Given the description of an element on the screen output the (x, y) to click on. 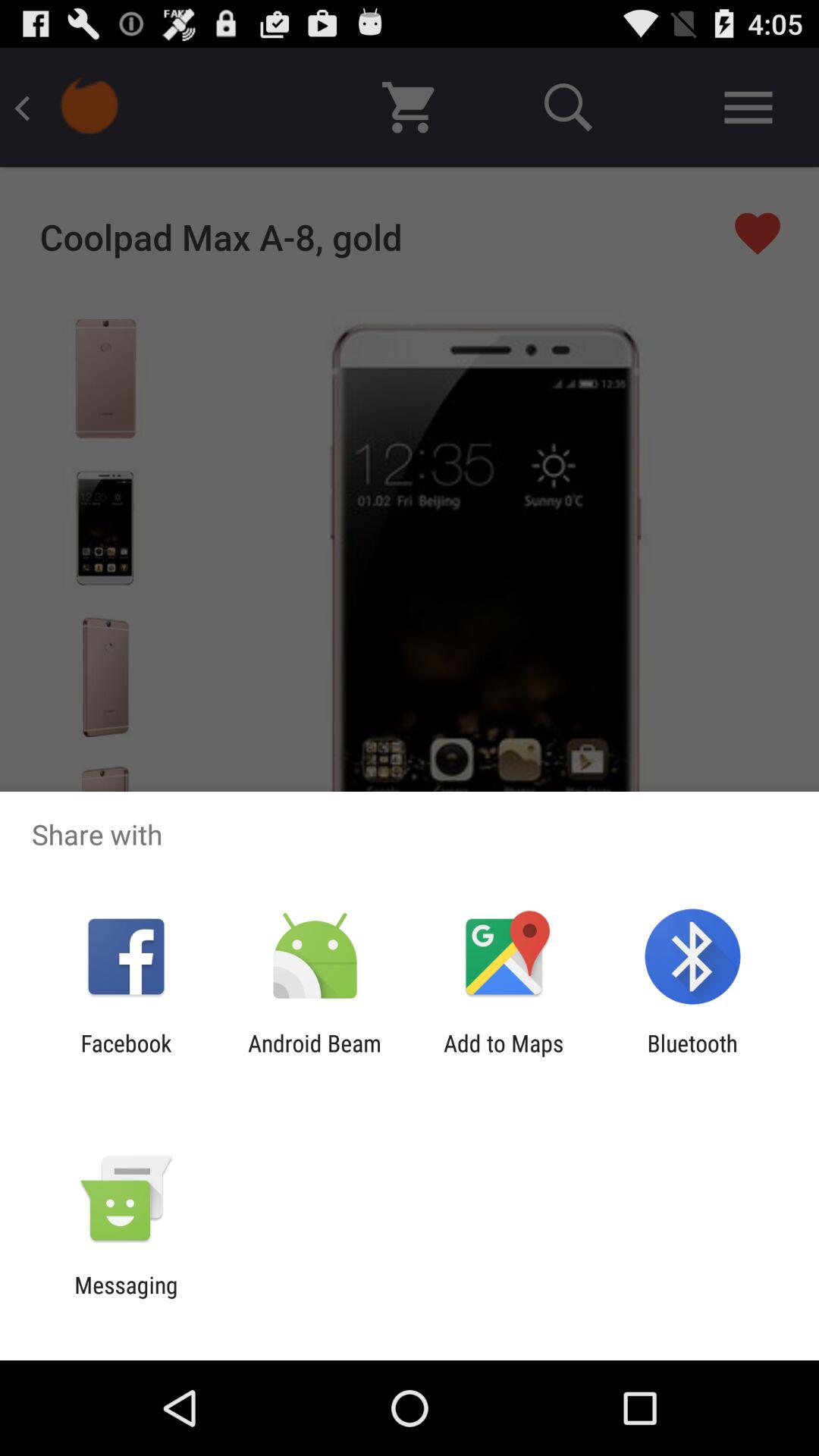
open the icon at the bottom right corner (692, 1056)
